Given the description of an element on the screen output the (x, y) to click on. 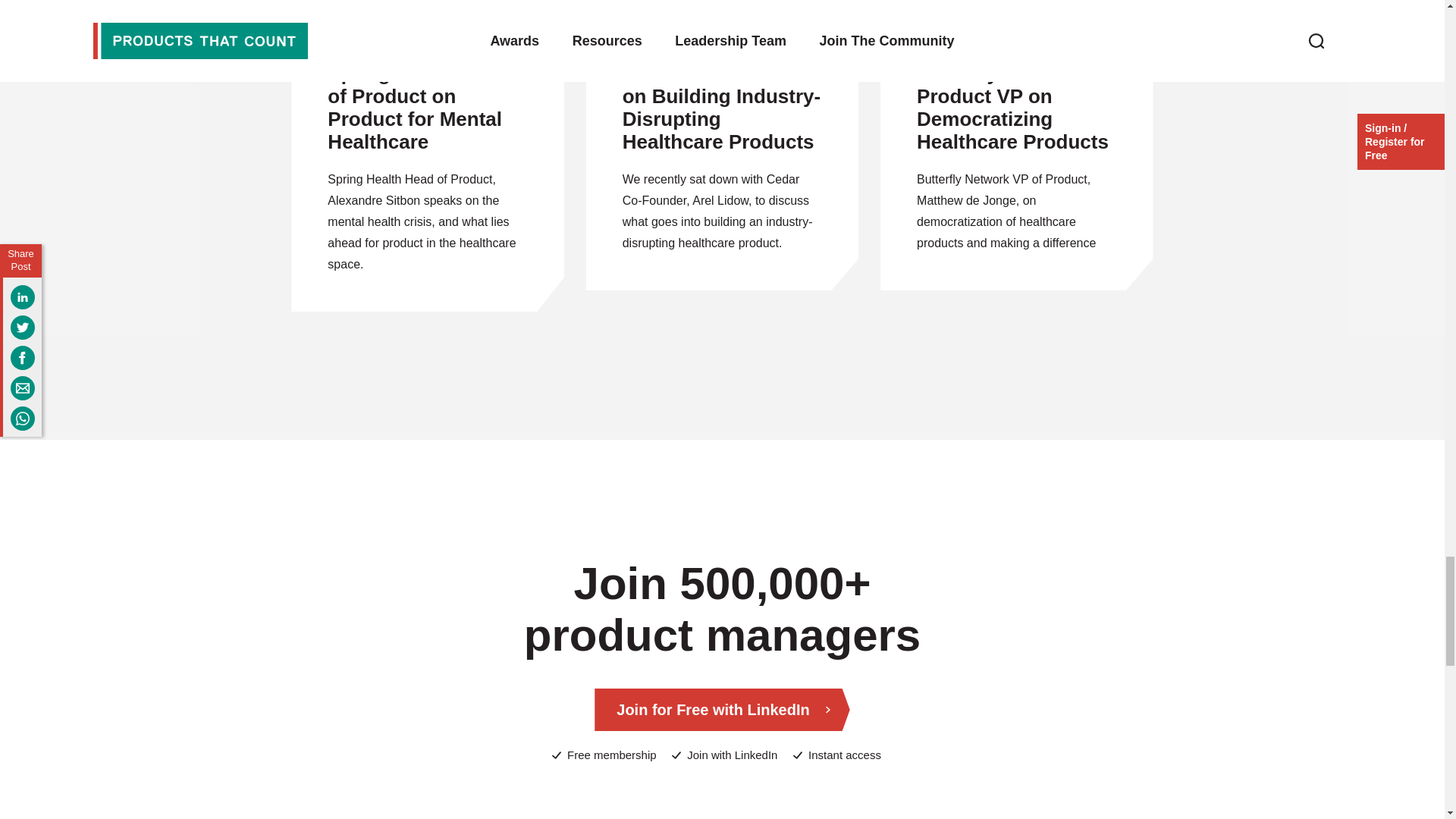
Join for Free with LinkedIn (721, 709)
Join with LinkedIn (724, 755)
LEARN SOMETHING NEW (1016, 8)
LEARN SOMETHING NEW (722, 8)
Instant access (836, 755)
Free membership (603, 755)
LEARN SOMETHING NEW (427, 26)
